Given the description of an element on the screen output the (x, y) to click on. 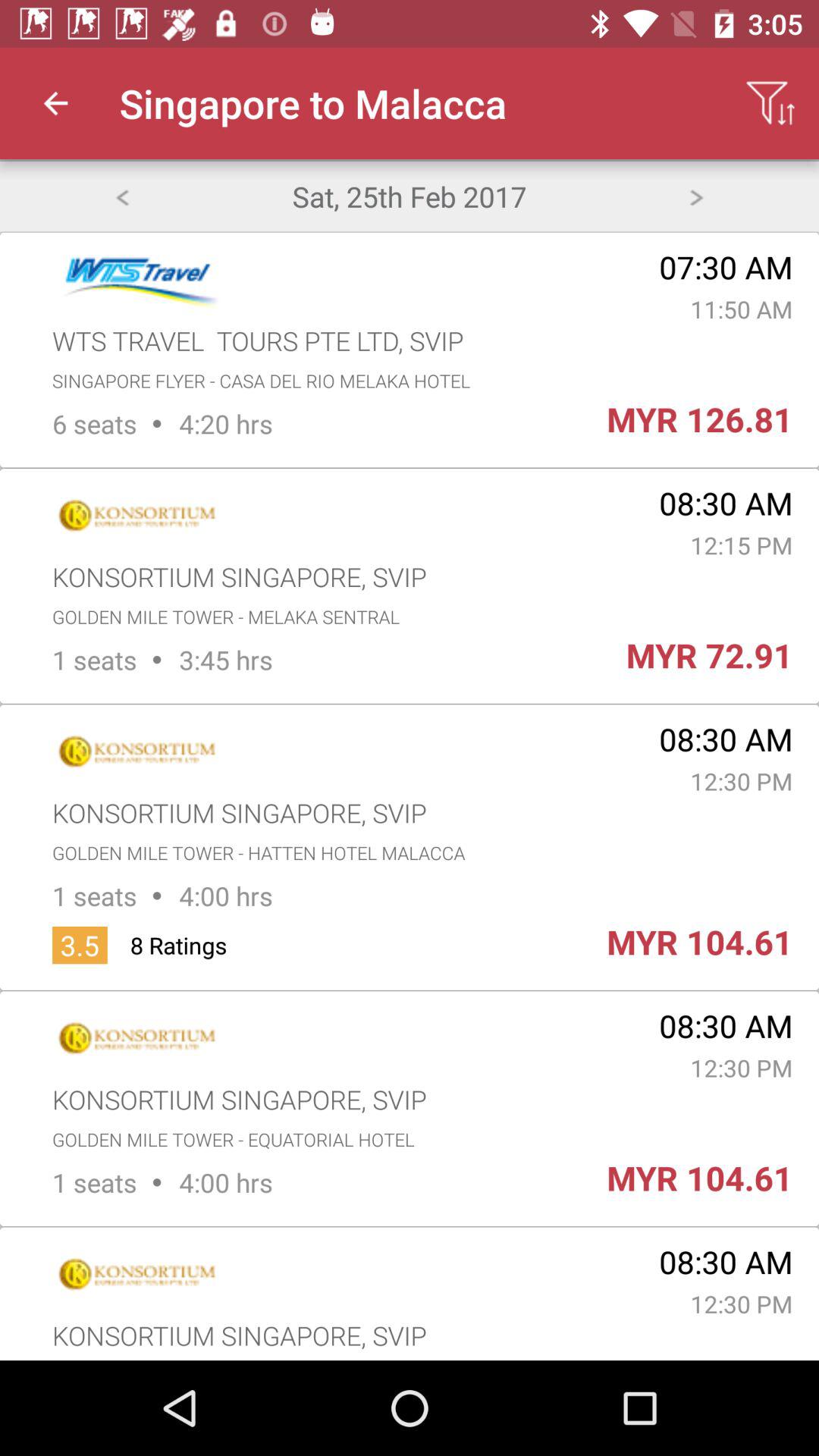
go to previous date (121, 196)
